Given the description of an element on the screen output the (x, y) to click on. 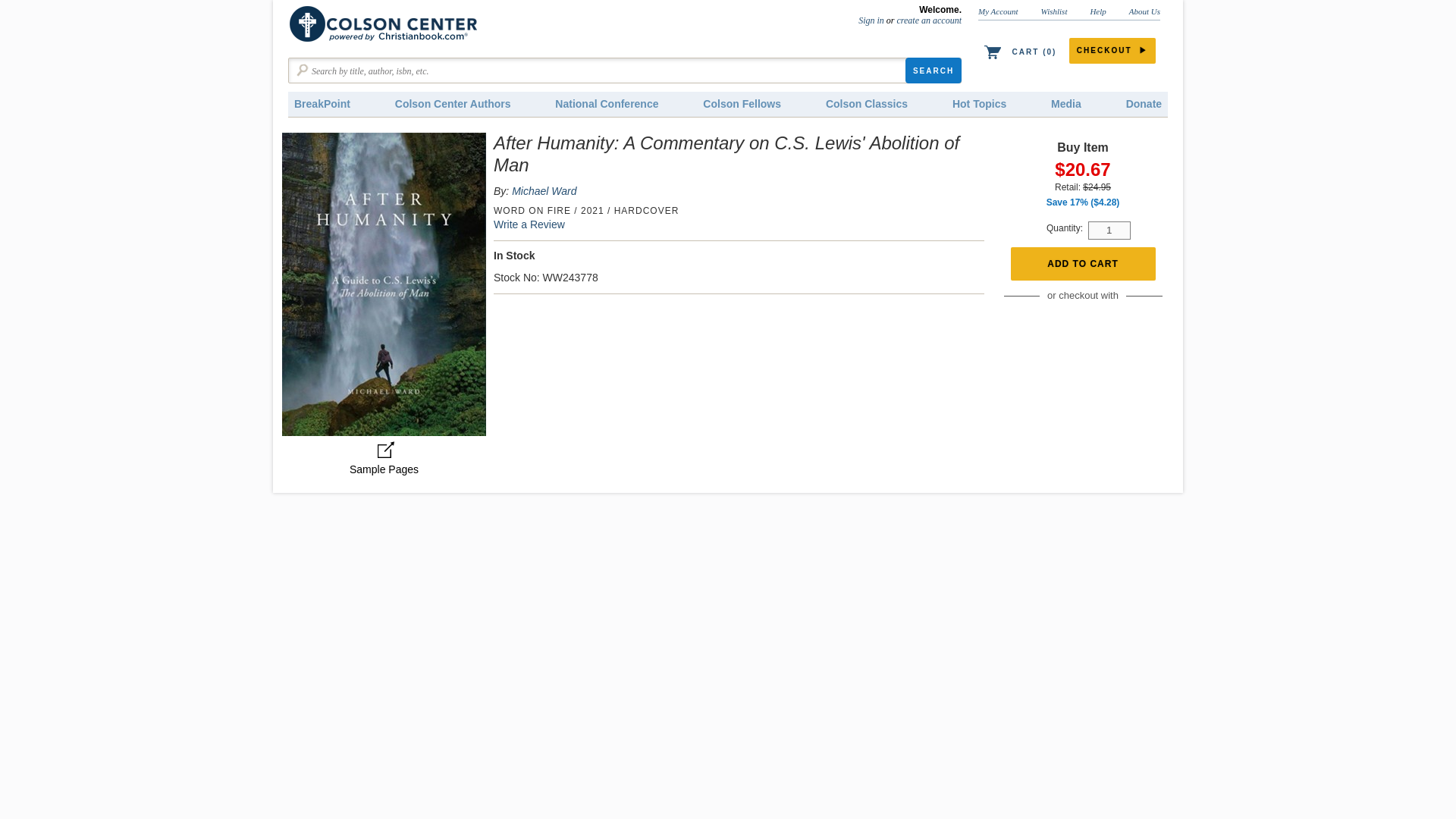
Colson Fellows (741, 103)
Michael Ward (544, 191)
Donate (1144, 103)
CHECKOUT (1112, 50)
National Conference (606, 103)
Sign in (871, 20)
Wishlist (1054, 11)
Media (1065, 103)
Write a Review (528, 224)
create an account (928, 20)
SEARCH (932, 70)
Help (1097, 11)
BreakPoint (321, 103)
Colson Center Authors (453, 103)
Place in Bookbag (1082, 263)
